Given the description of an element on the screen output the (x, y) to click on. 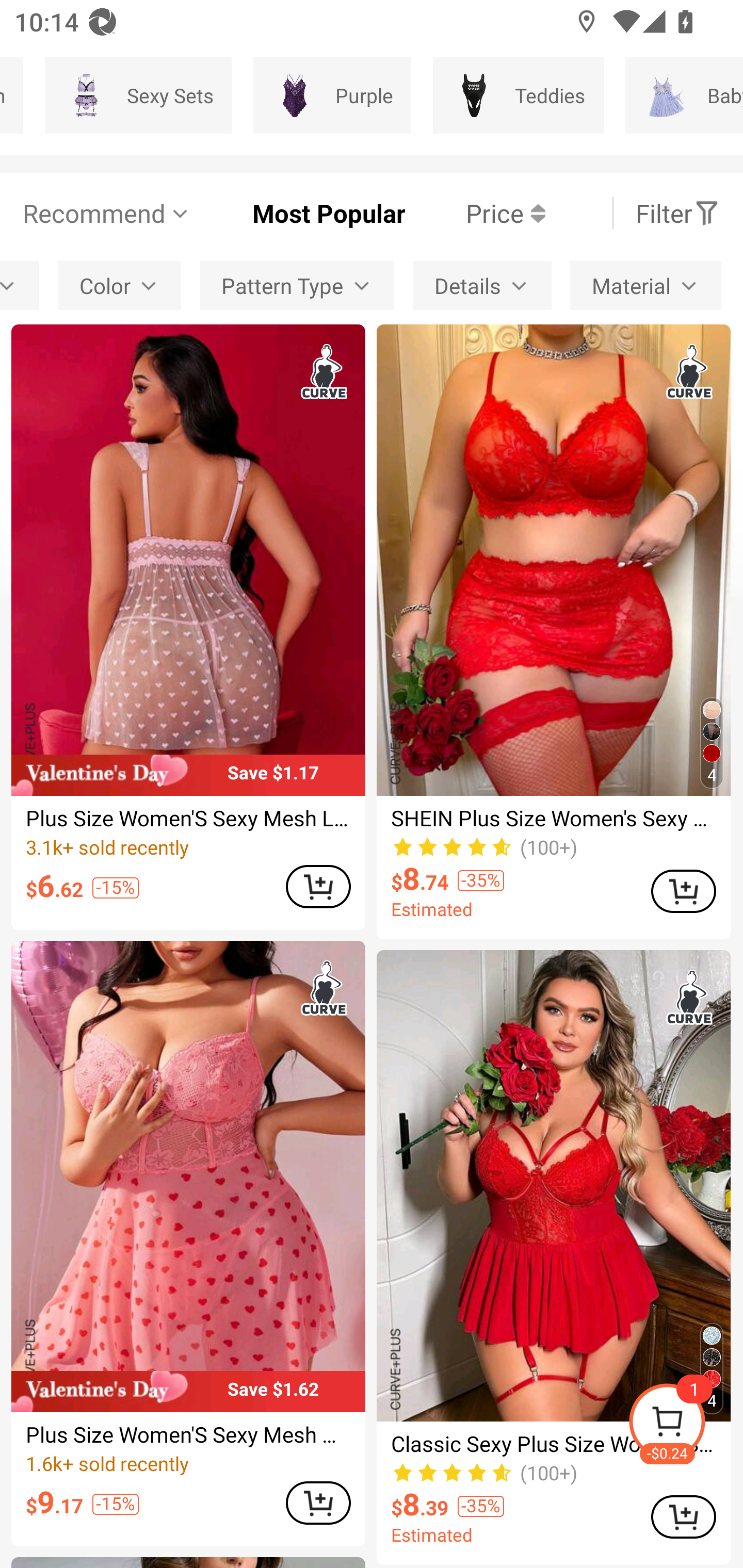
Sexy Sets (137, 95)
Purple (331, 95)
Teddies (518, 95)
Babydolls (684, 95)
Recommend (106, 213)
Most Popular (297, 213)
Price (474, 213)
Filter (677, 213)
Color (119, 285)
Pattern Type (296, 285)
Details (482, 285)
Material (645, 285)
ADD TO CART (318, 886)
ADD TO CART (683, 891)
-$0.24 (685, 1424)
ADD TO CART (318, 1502)
ADD TO CART (683, 1516)
